Given the description of an element on the screen output the (x, y) to click on. 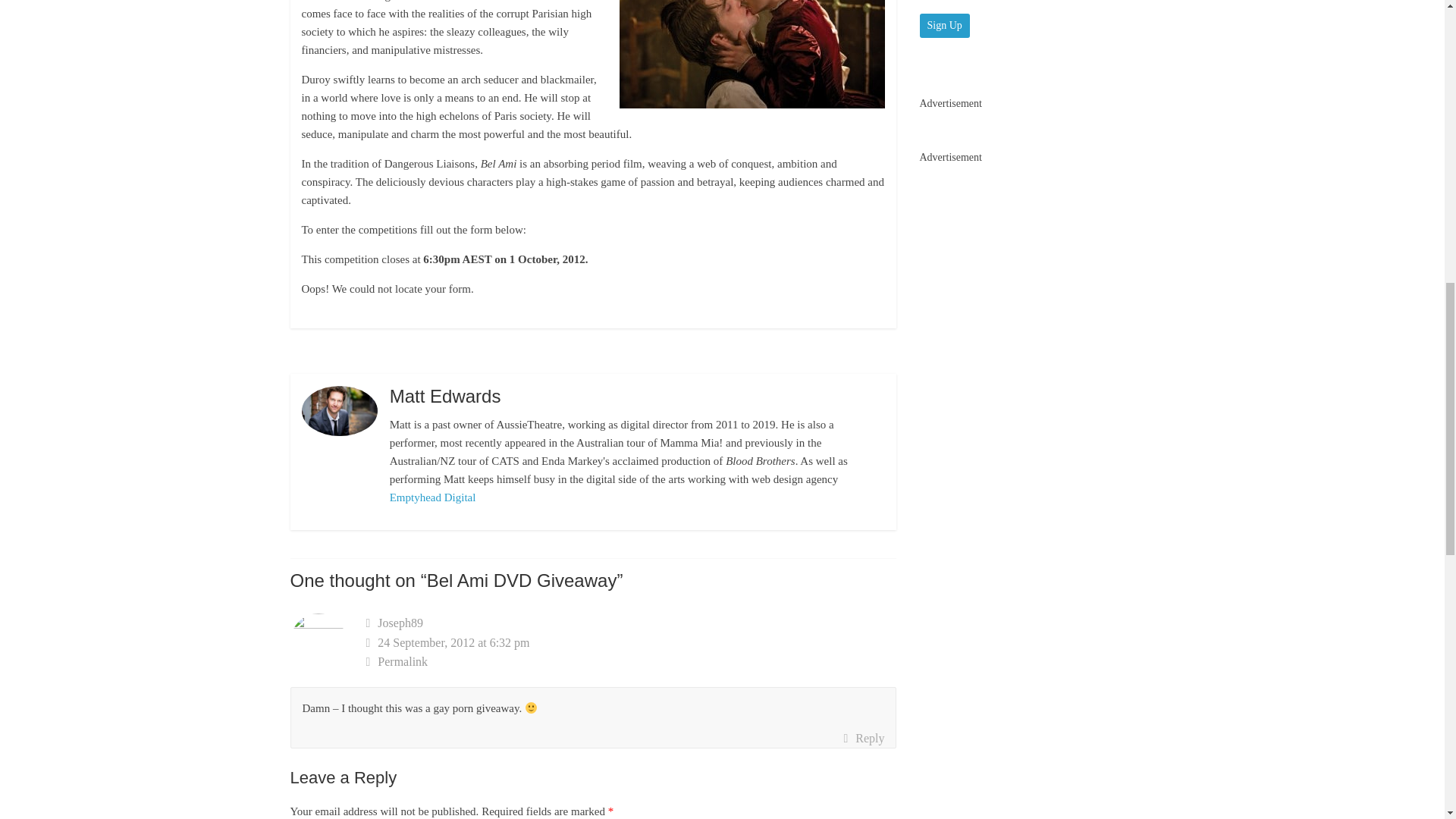
Sign Up (943, 25)
Reply (863, 738)
Sign Up (943, 25)
Bel Ami (752, 54)
Emptyhead Digital (433, 497)
Permalink (630, 661)
